Given the description of an element on the screen output the (x, y) to click on. 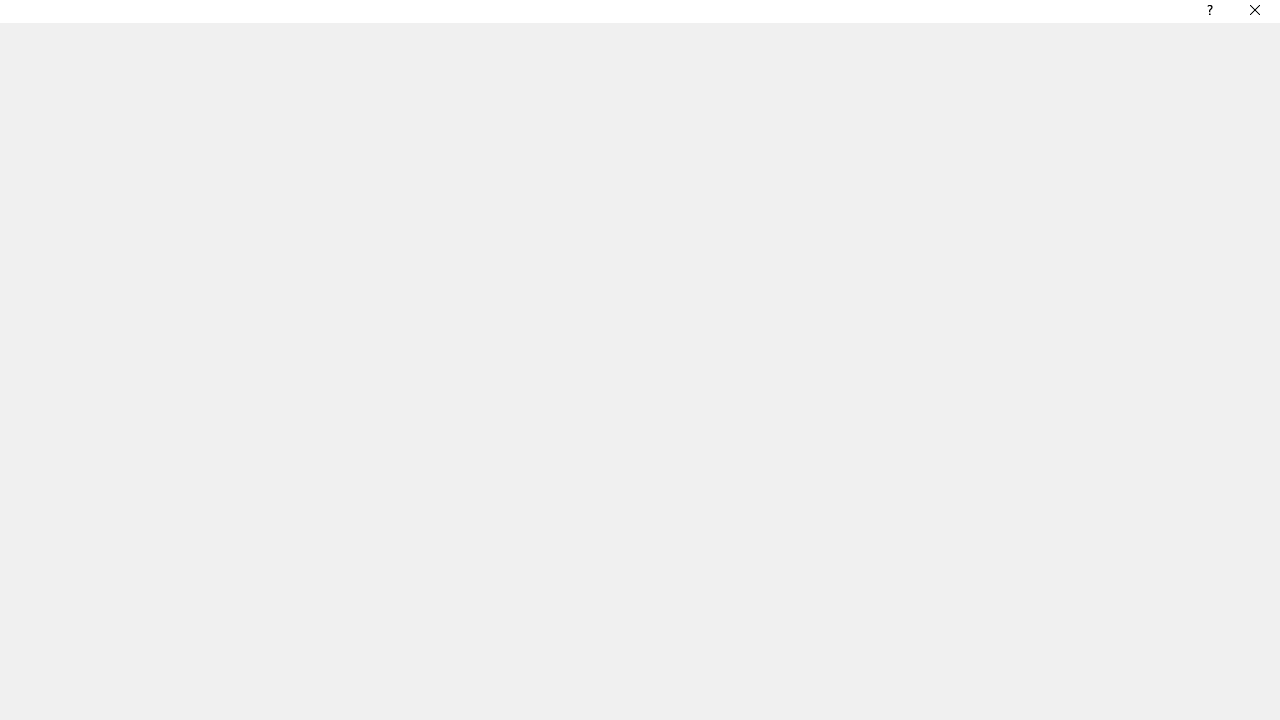
Context help (1208, 14)
